Given the description of an element on the screen output the (x, y) to click on. 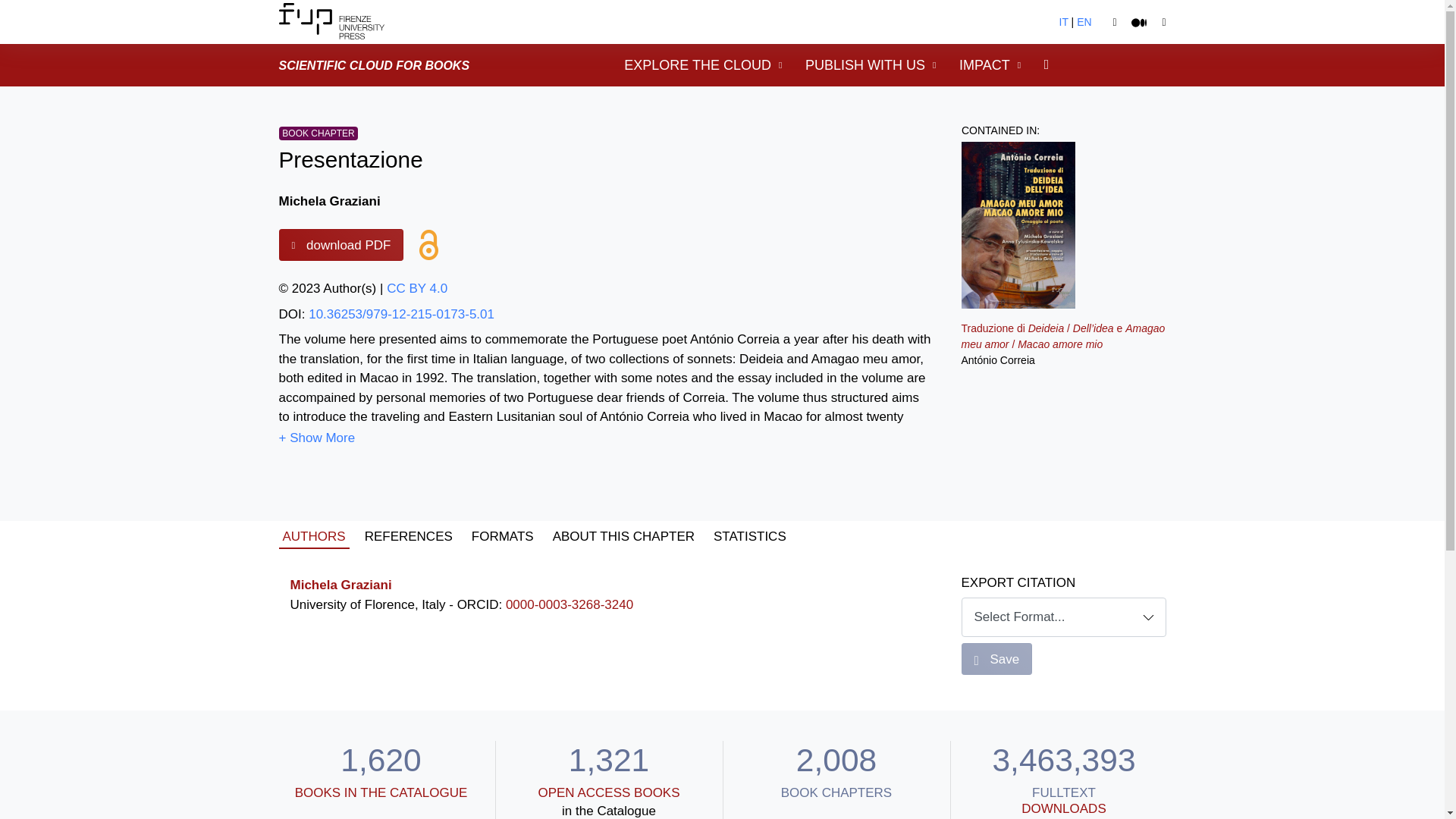
PUBLISH WITH US (870, 65)
SCIENTIFIC CLOUD FOR BOOKS (374, 64)
EXPLORE THE CLOUD (702, 65)
EN (1083, 21)
